Given the description of an element on the screen output the (x, y) to click on. 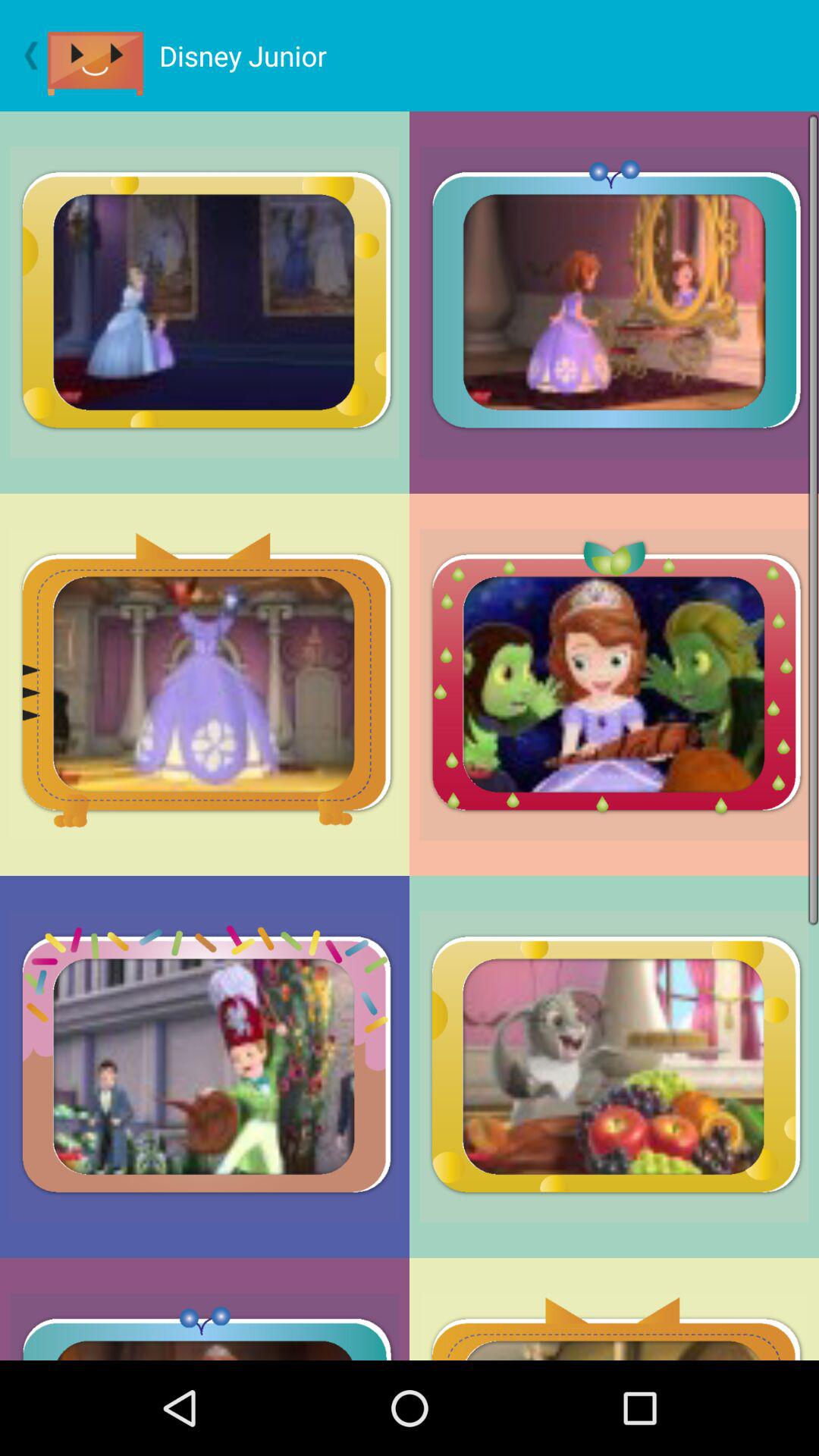
go home (103, 55)
